Given the description of an element on the screen output the (x, y) to click on. 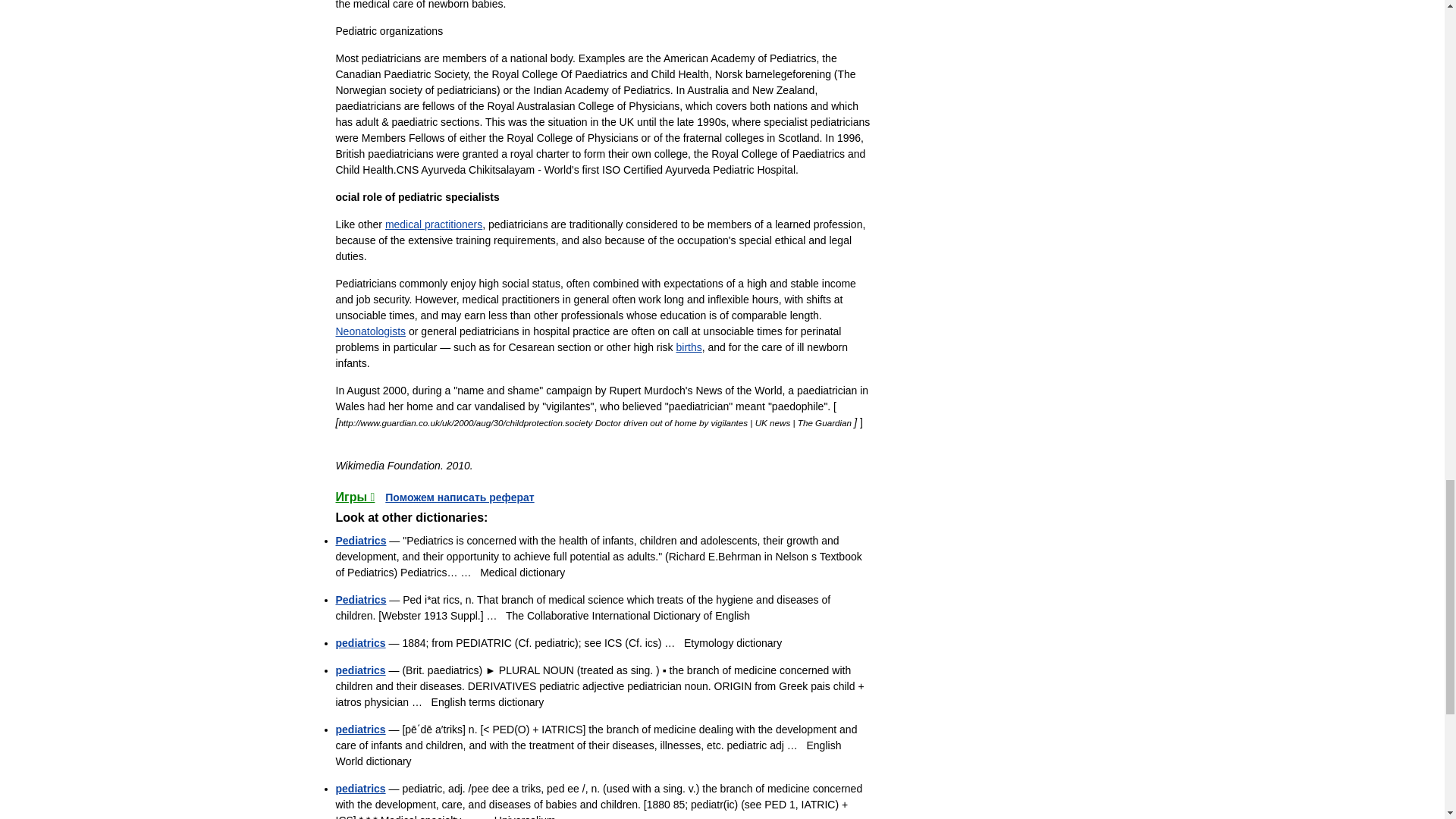
Neonatologists (370, 331)
medical practitioners (433, 224)
births (689, 346)
